Given the description of an element on the screen output the (x, y) to click on. 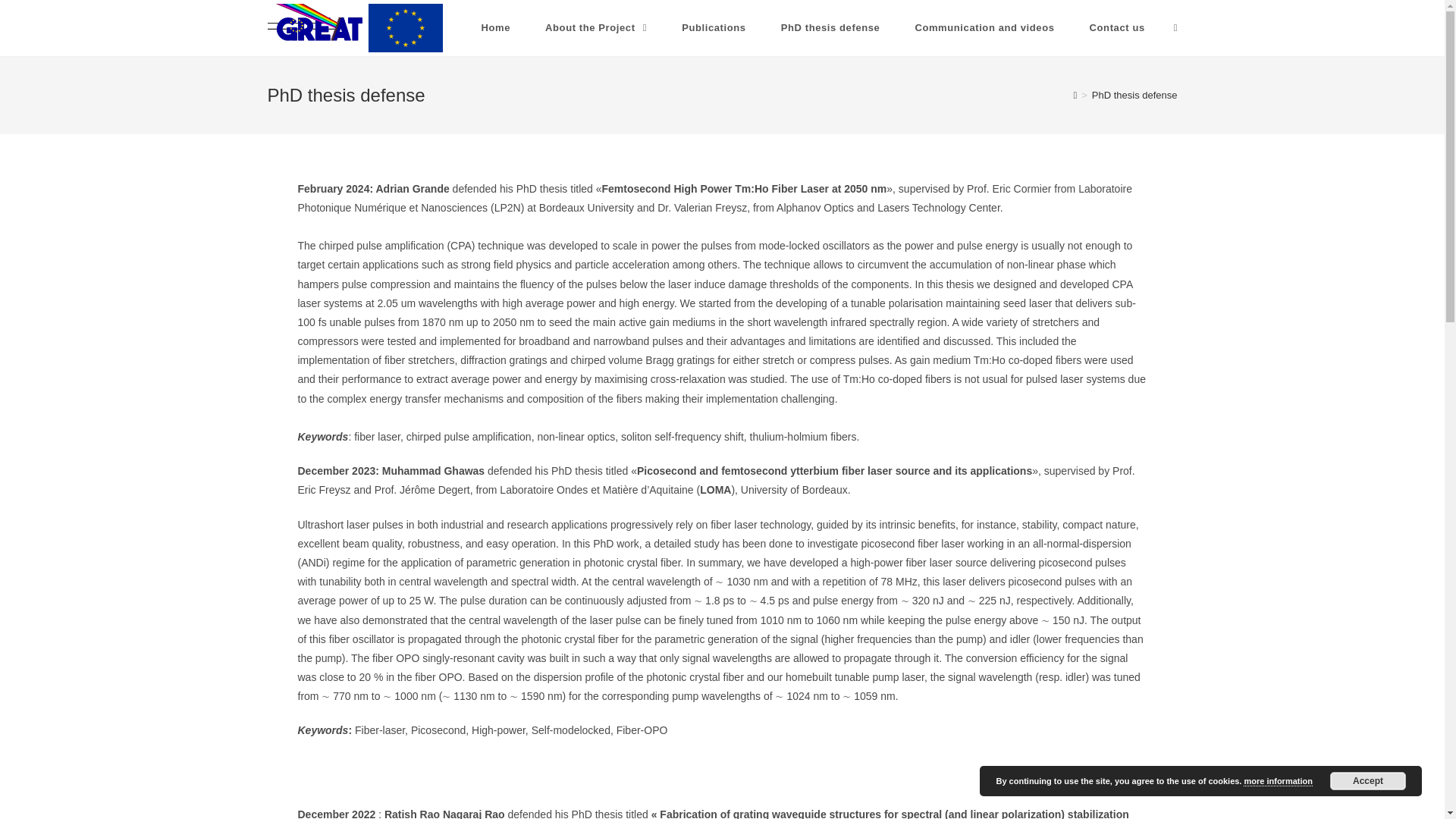
PhD thesis defense (830, 28)
Accept (1368, 781)
more information (1277, 781)
Communication and videos (983, 28)
PhD thesis defense (1134, 94)
Contact us (1116, 28)
About the Project (595, 28)
Publications (712, 28)
Home (496, 28)
